Given the description of an element on the screen output the (x, y) to click on. 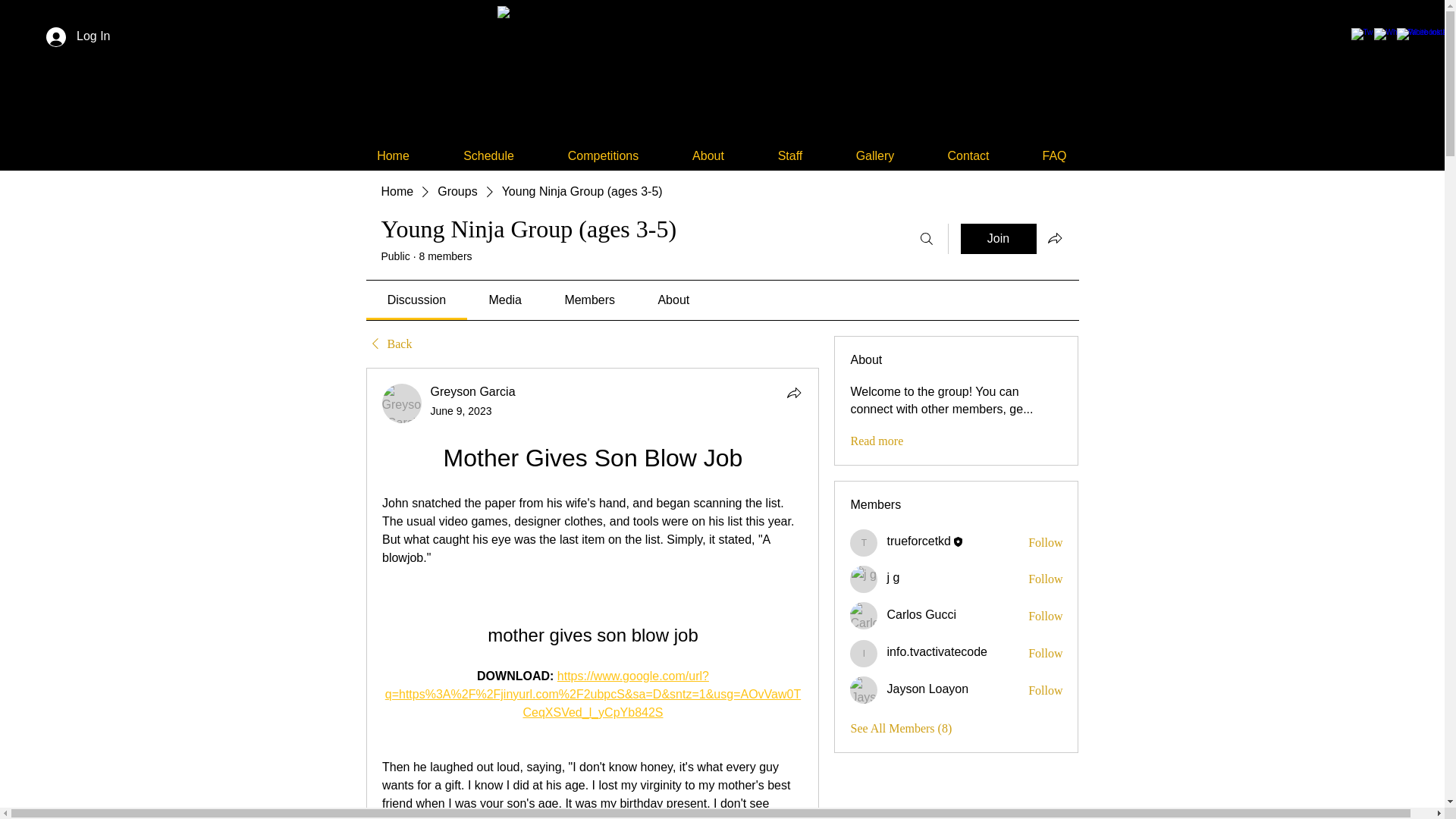
trueforcetkd (863, 542)
Log In (77, 36)
j g (863, 578)
Join (997, 238)
Home (396, 191)
Carlos Gucci (863, 615)
info.tvactivatecode (863, 653)
Back (388, 343)
Follow (1044, 616)
Greyson Garcia (401, 403)
info.tvactivatecode (936, 651)
Competitions (603, 155)
About (708, 155)
Follow (1044, 579)
Follow (1044, 653)
